Given the description of an element on the screen output the (x, y) to click on. 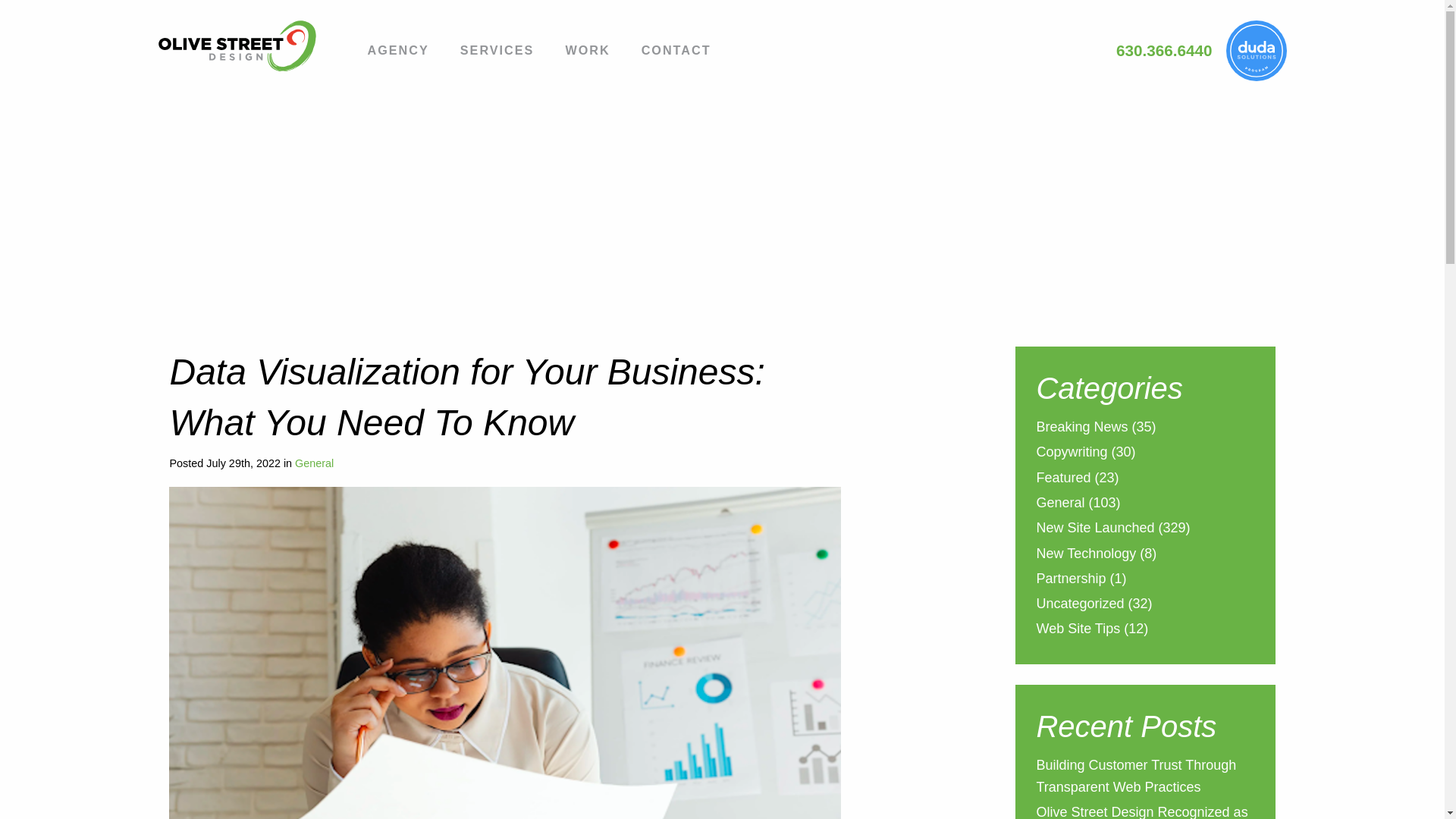
Copywriting (1070, 453)
General (1059, 504)
Building Customer Trust Through Transparent Web Practices (1135, 777)
Partnership (1070, 579)
CONTACT (676, 52)
New Site Launched (1094, 529)
Breaking News (1080, 428)
Uncategorized (1079, 605)
630.366.6440 (1164, 49)
Featured (1062, 479)
WORK (587, 52)
AGENCY (397, 52)
Web Site Tips (1077, 629)
New Technology (1085, 555)
Olive Street Design (248, 45)
